Given the description of an element on the screen output the (x, y) to click on. 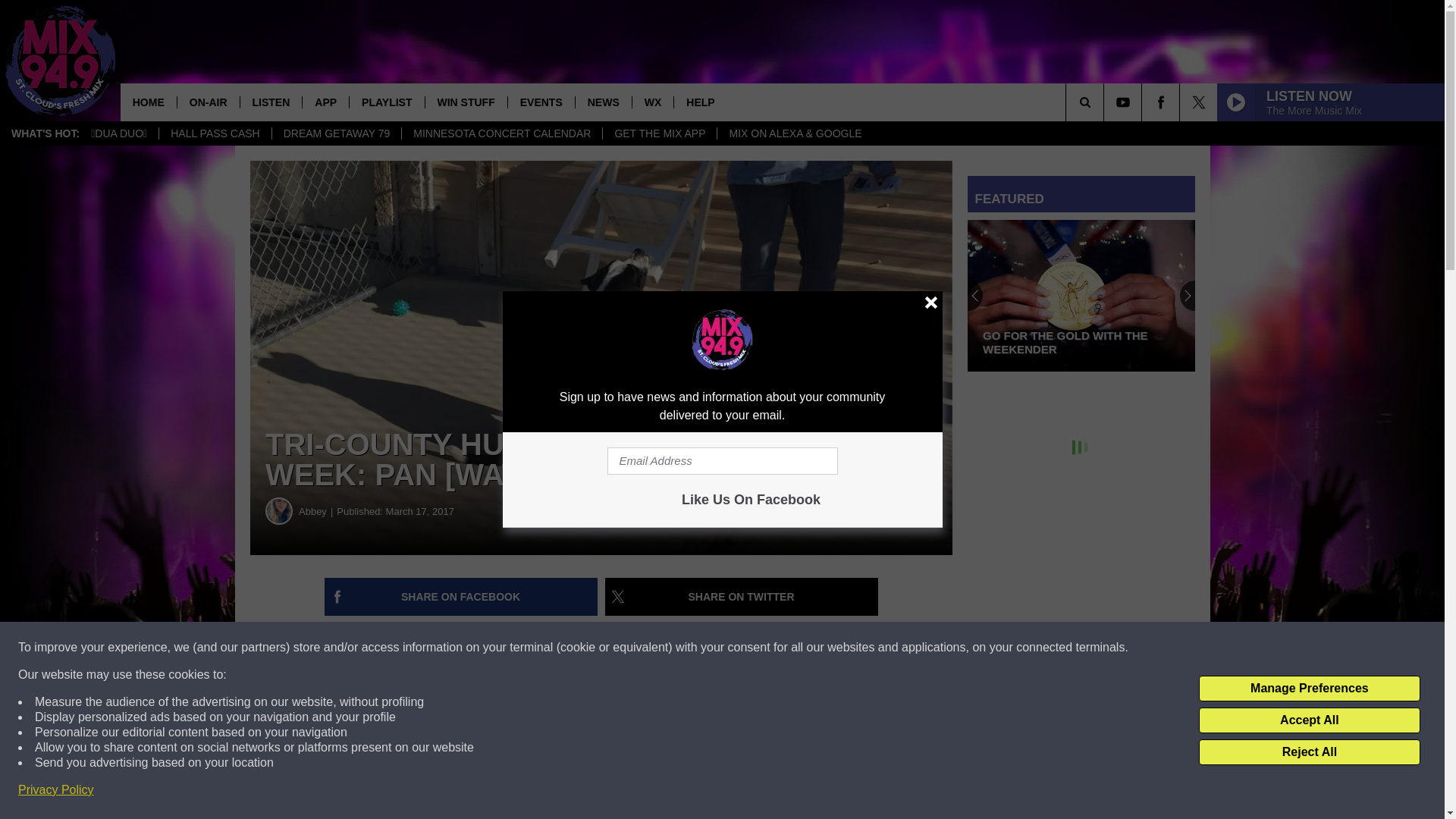
PLAYLIST (386, 102)
MINNESOTA CONCERT CALENDAR (501, 133)
Share on Facebook (460, 596)
HALL PASS CASH (214, 133)
Share on Twitter (741, 596)
Manage Preferences (1309, 688)
SEARCH (1106, 102)
EVENTS (540, 102)
Accept All (1309, 720)
Reject All (1309, 751)
APP (325, 102)
SEARCH (1106, 102)
DREAM GETAWAY 79 (335, 133)
ON-AIR (208, 102)
HOME (148, 102)
